Given the description of an element on the screen output the (x, y) to click on. 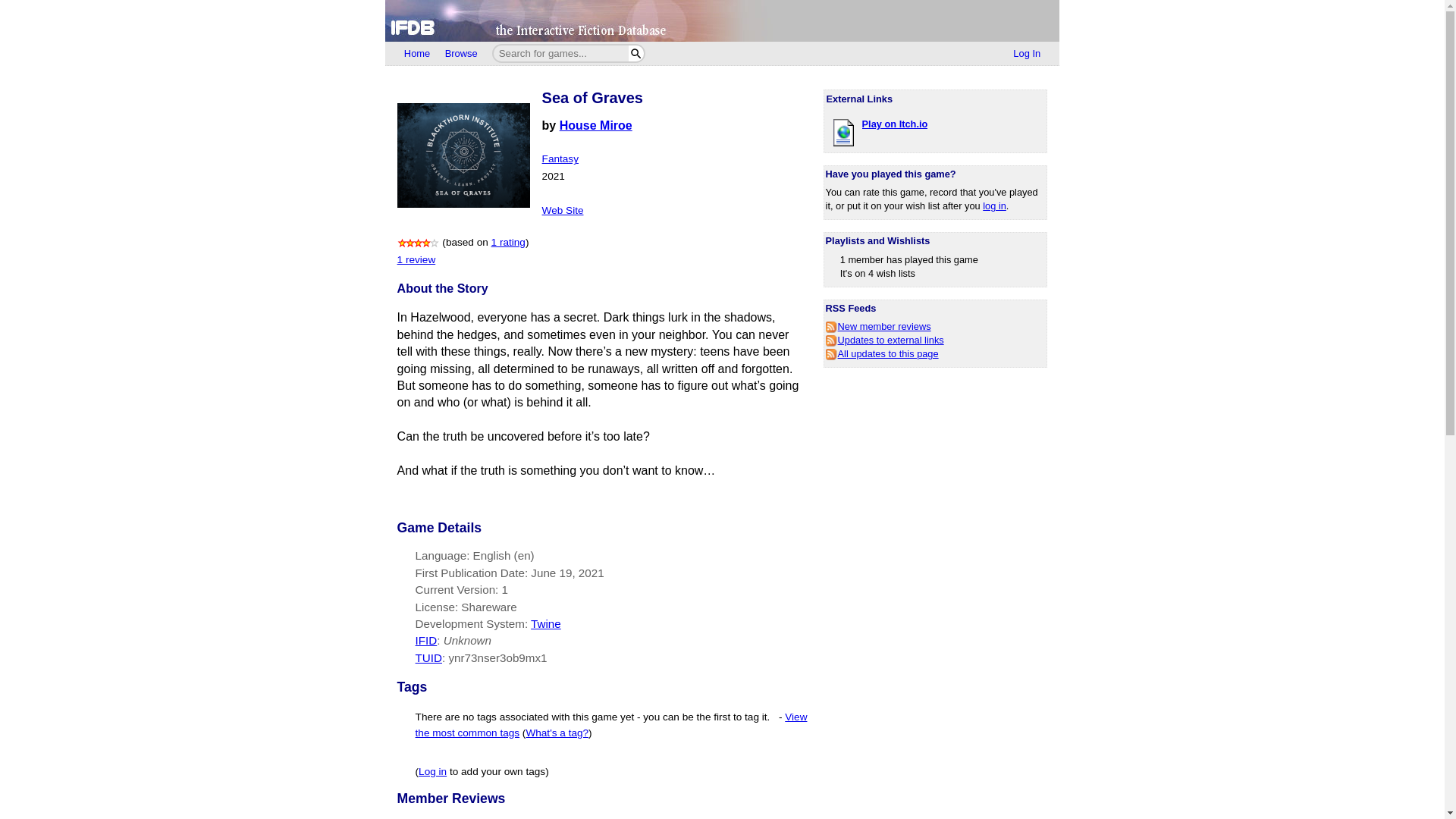
TUID (428, 657)
It's on 4 wish lists (877, 273)
Browse (461, 53)
View all ratings and reviews for this game (508, 242)
House Miroe (595, 124)
Fantasy (559, 158)
Log in (432, 771)
New member reviews (878, 326)
Play on Itch.io (894, 123)
1 rating (508, 242)
All updates to this page (882, 353)
What's a tag? (556, 732)
Home (417, 53)
log in (994, 205)
Log In (1027, 53)
